Given the description of an element on the screen output the (x, y) to click on. 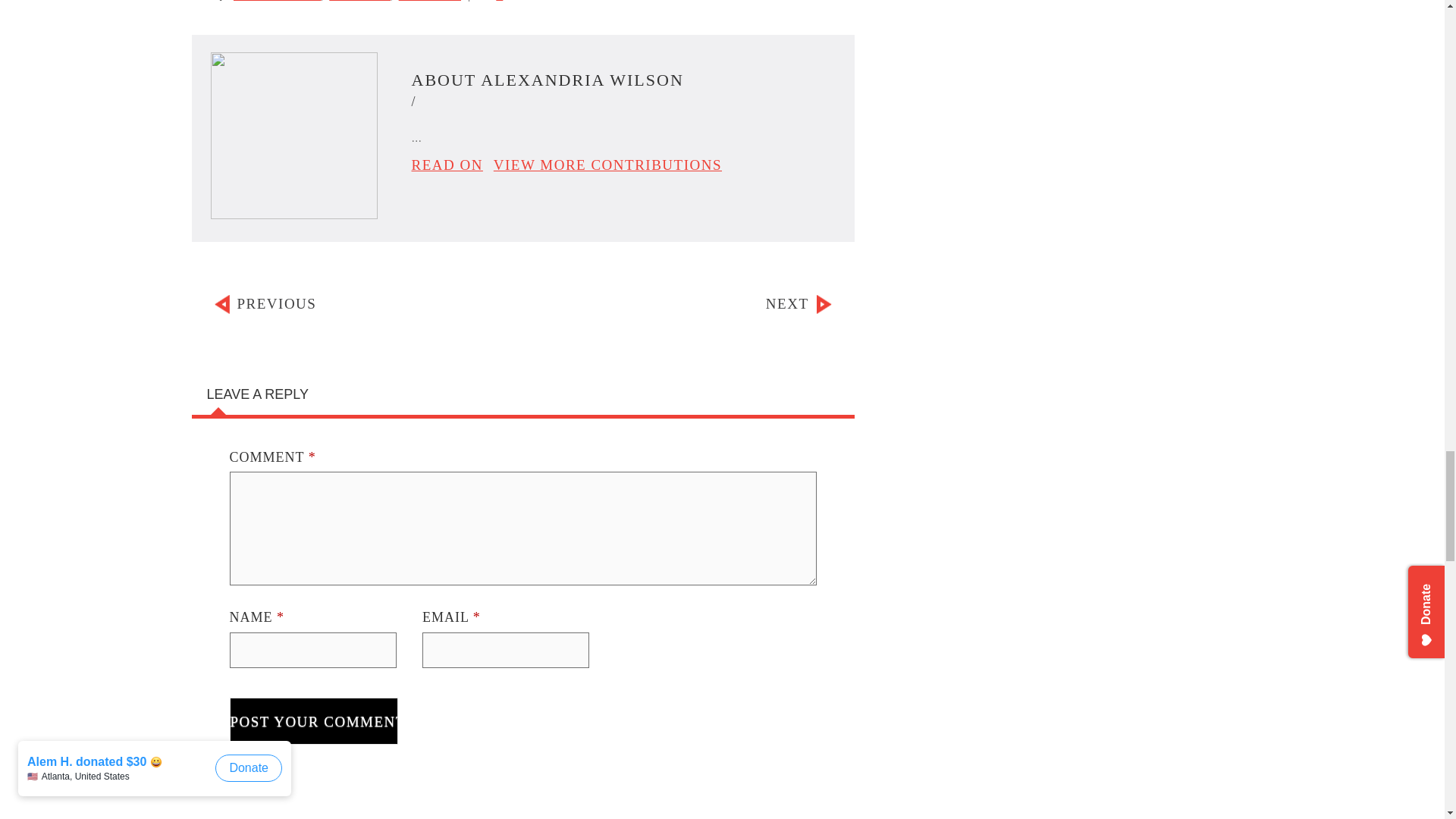
post your comment (312, 720)
